Given the description of an element on the screen output the (x, y) to click on. 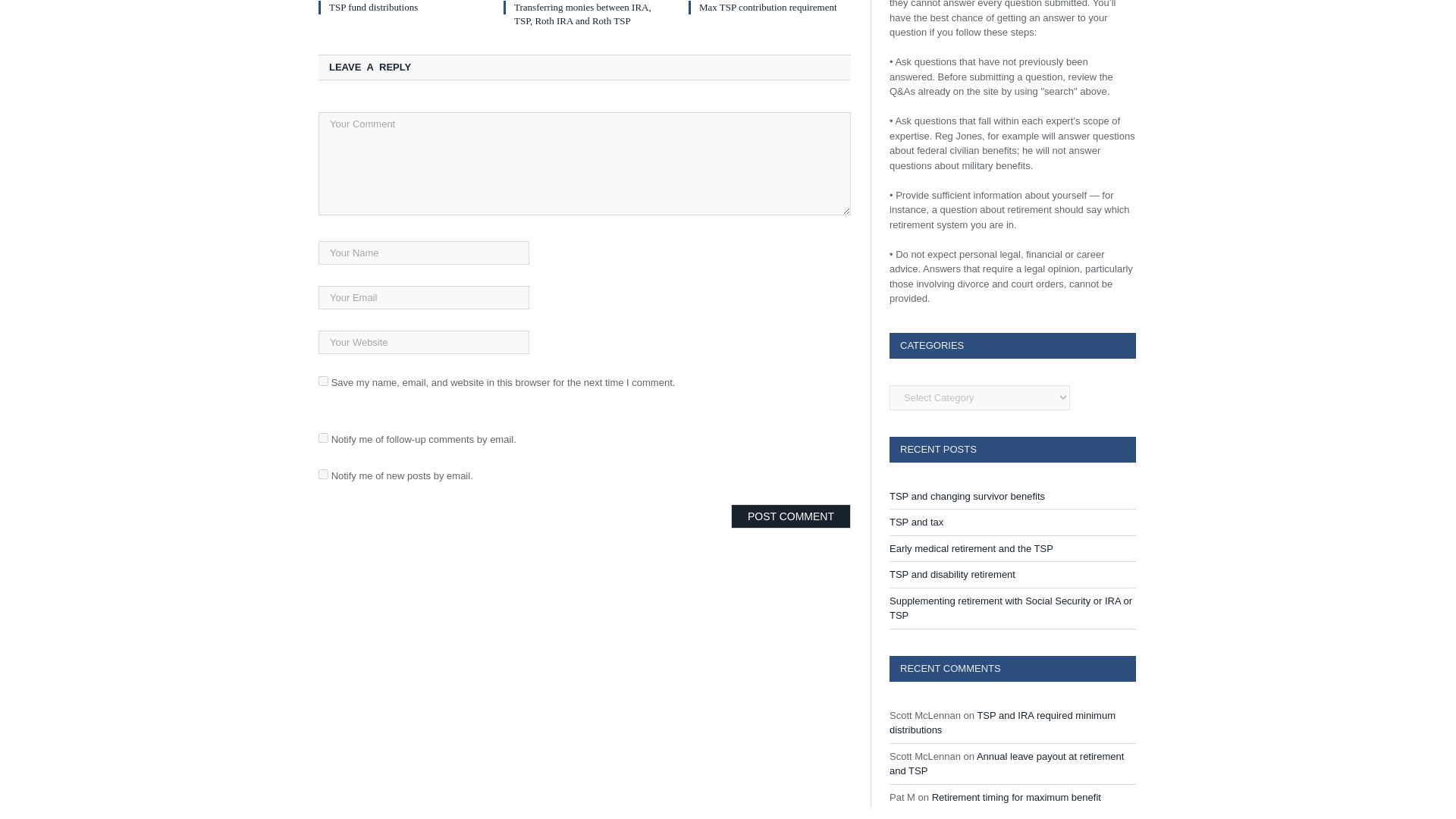
subscribe (323, 438)
yes (323, 380)
subscribe (323, 474)
Post Comment (790, 516)
